Given the description of an element on the screen output the (x, y) to click on. 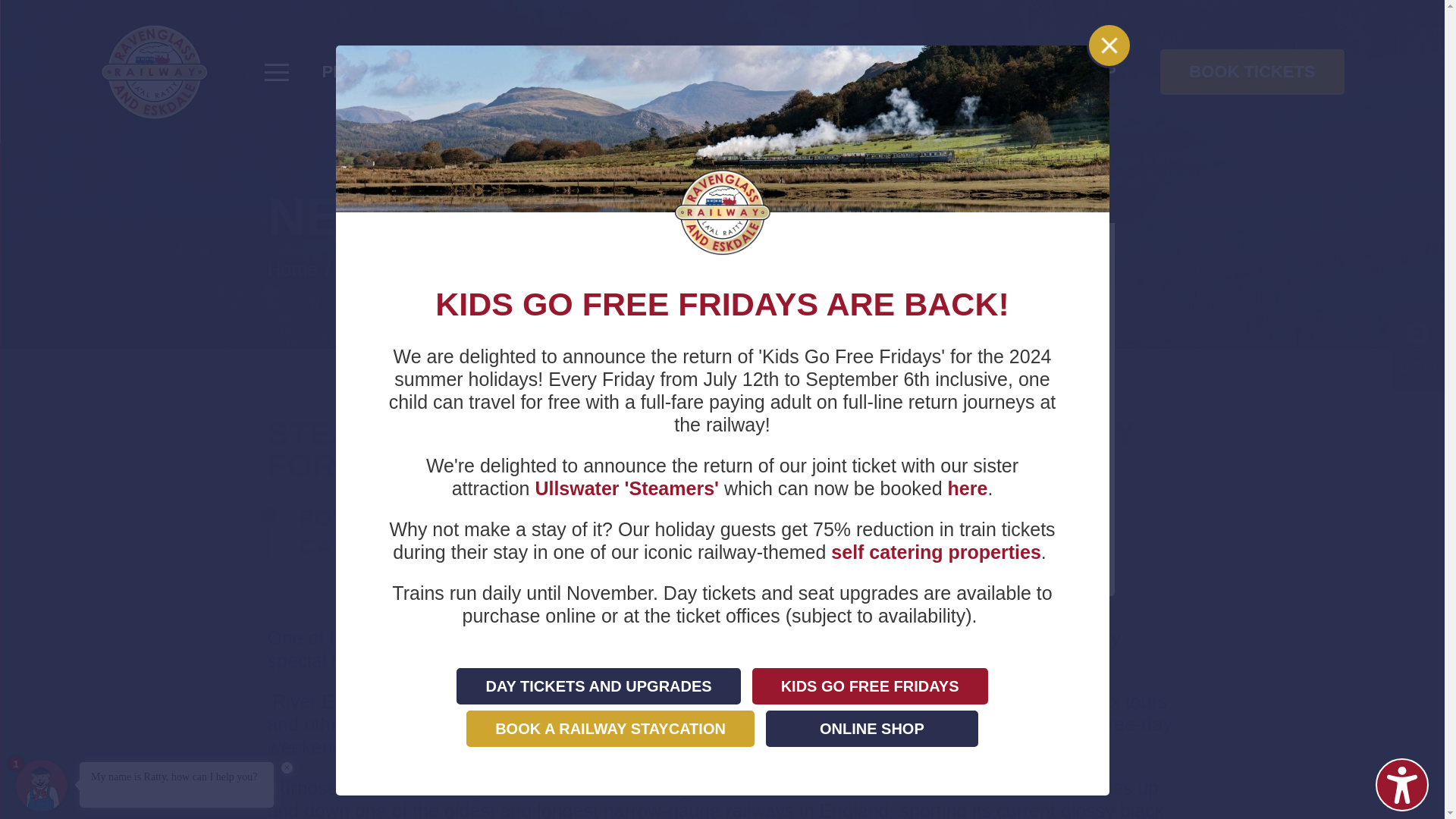
GIFT EXPERIENCES (957, 71)
Webcam (1417, 336)
EVENTS (650, 71)
SHOP (1092, 71)
STAYING OVER (779, 71)
PLAN YOUR VISIT (397, 71)
GROUPS (546, 71)
Close (1108, 44)
